Given the description of an element on the screen output the (x, y) to click on. 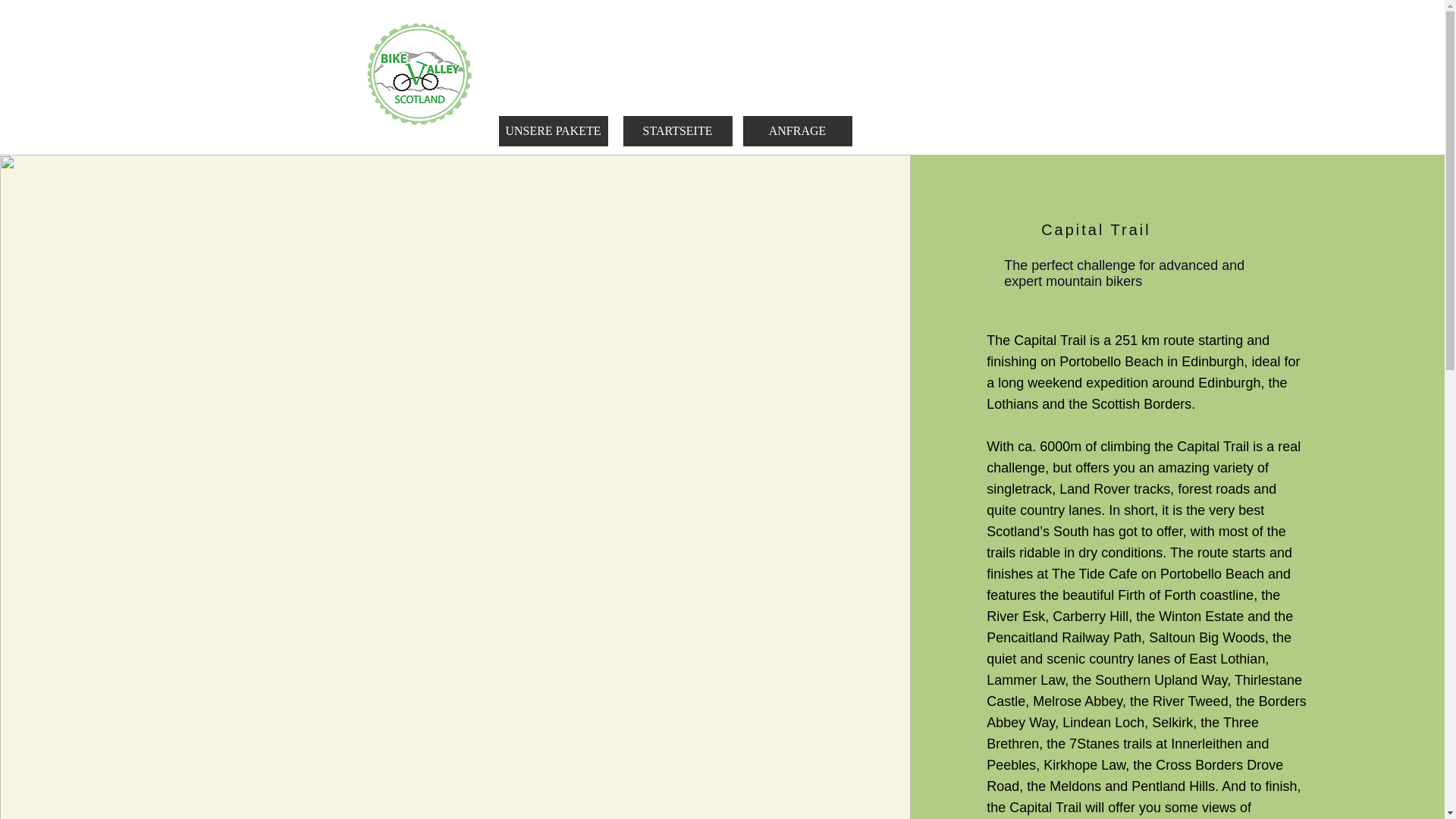
UNSERE PAKETE (553, 131)
ANFRAGE (796, 131)
STARTSEITE (677, 131)
